Given the description of an element on the screen output the (x, y) to click on. 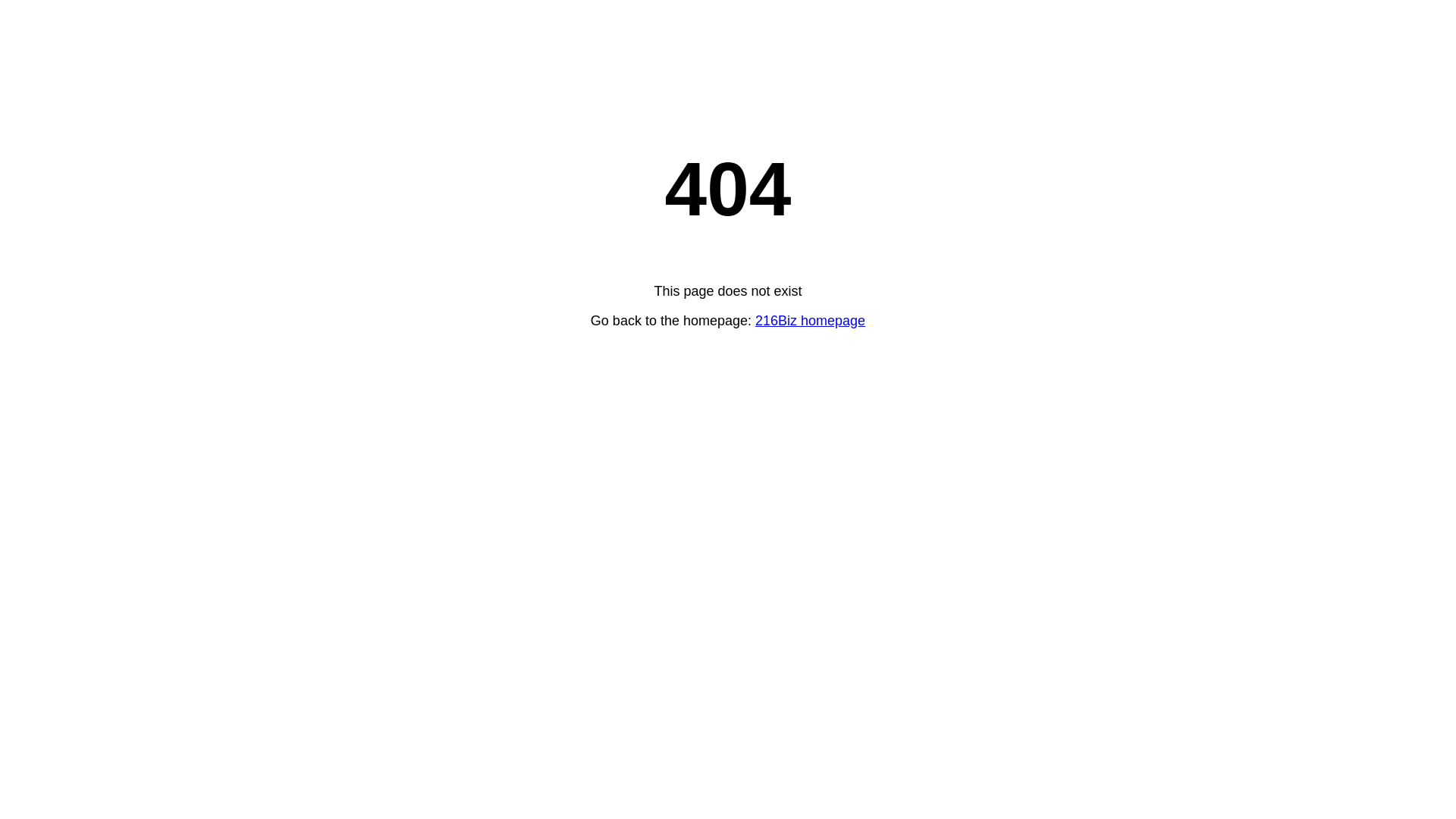
216Biz homepage Element type: text (810, 320)
